Given the description of an element on the screen output the (x, y) to click on. 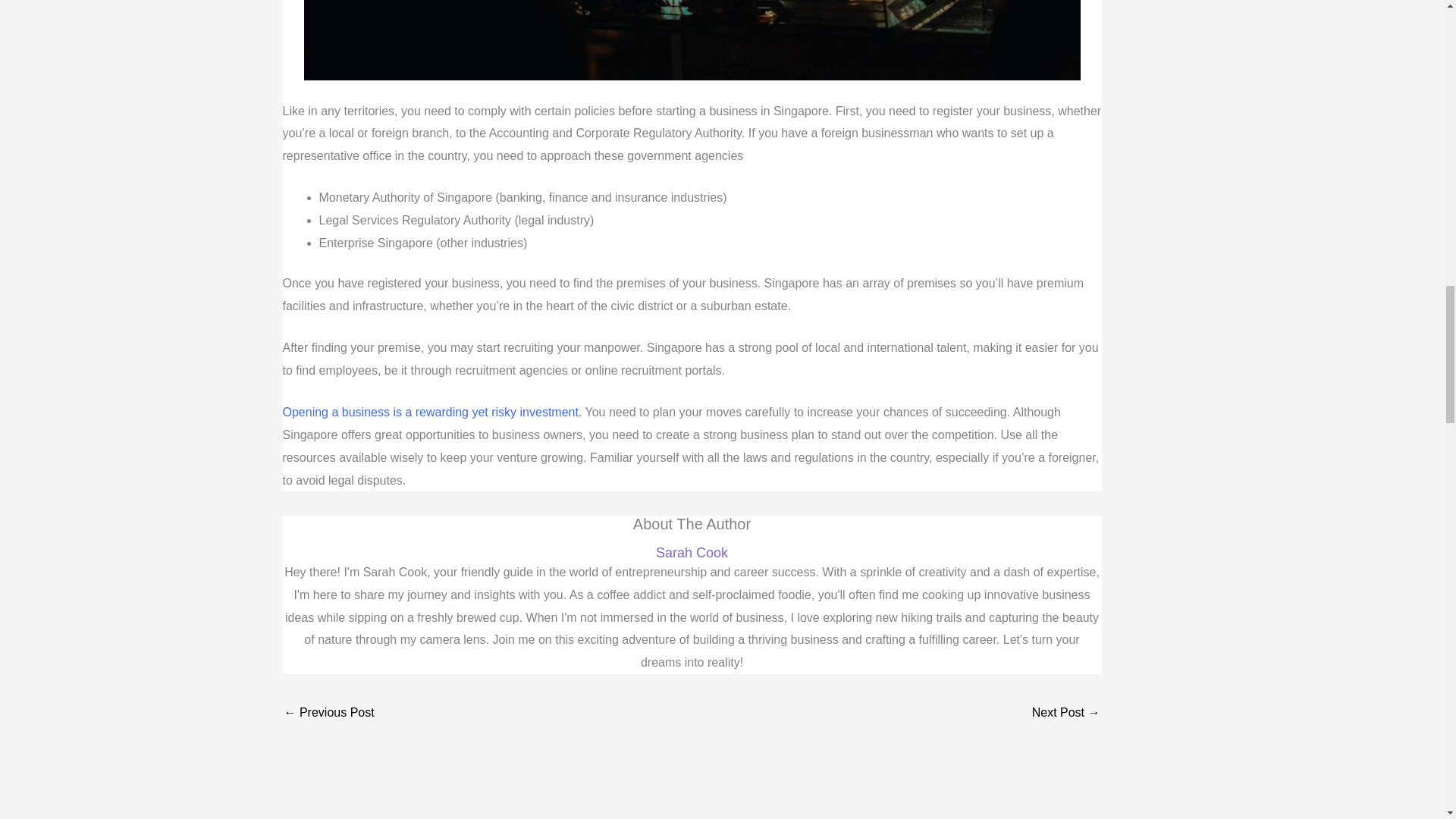
How to Ease Your Child's Dental Anxiety (1066, 714)
Opening a business is a rewarding yet risky investment (430, 411)
Sarah Cook (691, 553)
